Given the description of an element on the screen output the (x, y) to click on. 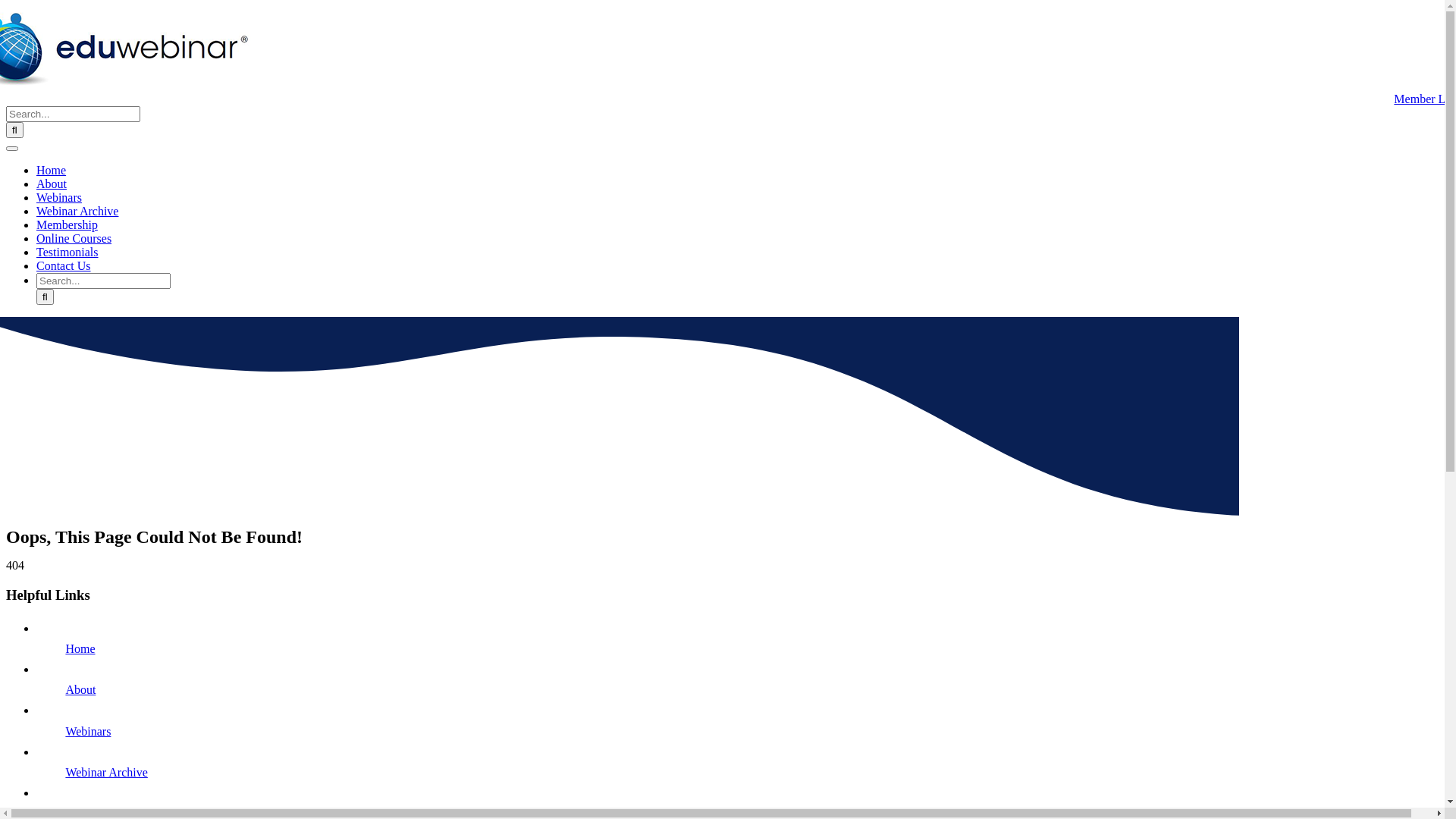
Testimonials Element type: text (67, 251)
About Element type: text (80, 689)
Toggle Navigation Element type: text (12, 148)
Webinars Element type: text (58, 197)
Webinar Archive Element type: text (77, 210)
Webinar Archive Element type: text (106, 771)
Contact Us Element type: text (63, 265)
Home Element type: text (79, 648)
About Element type: text (51, 183)
Skip to content Element type: text (5, 5)
Membership Element type: text (66, 224)
Home Element type: text (50, 169)
Online Courses Element type: text (73, 238)
Webinars Element type: text (87, 730)
